Given the description of an element on the screen output the (x, y) to click on. 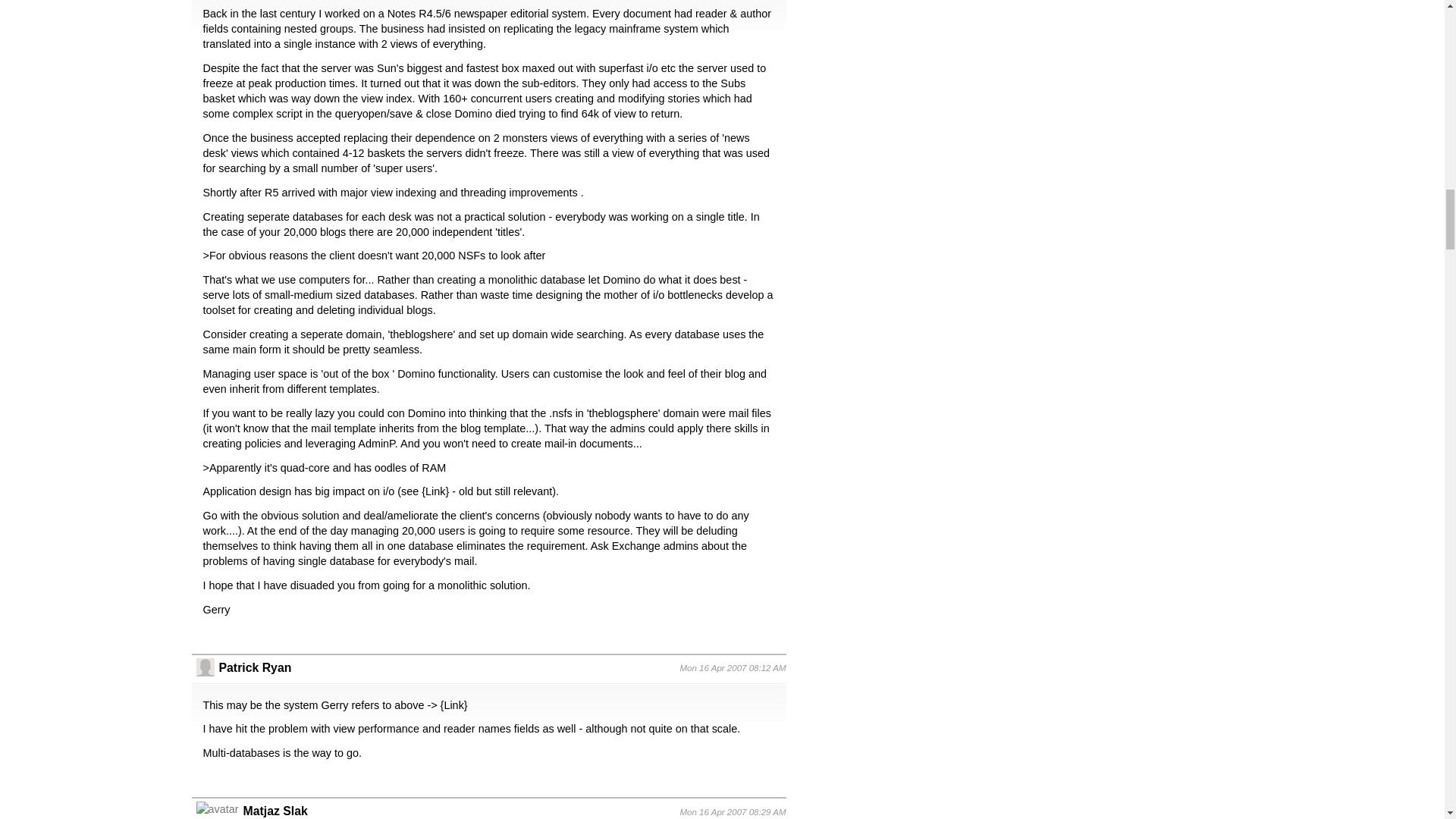
Link (435, 491)
Link (453, 705)
Matjaz Slak (275, 810)
